Given the description of an element on the screen output the (x, y) to click on. 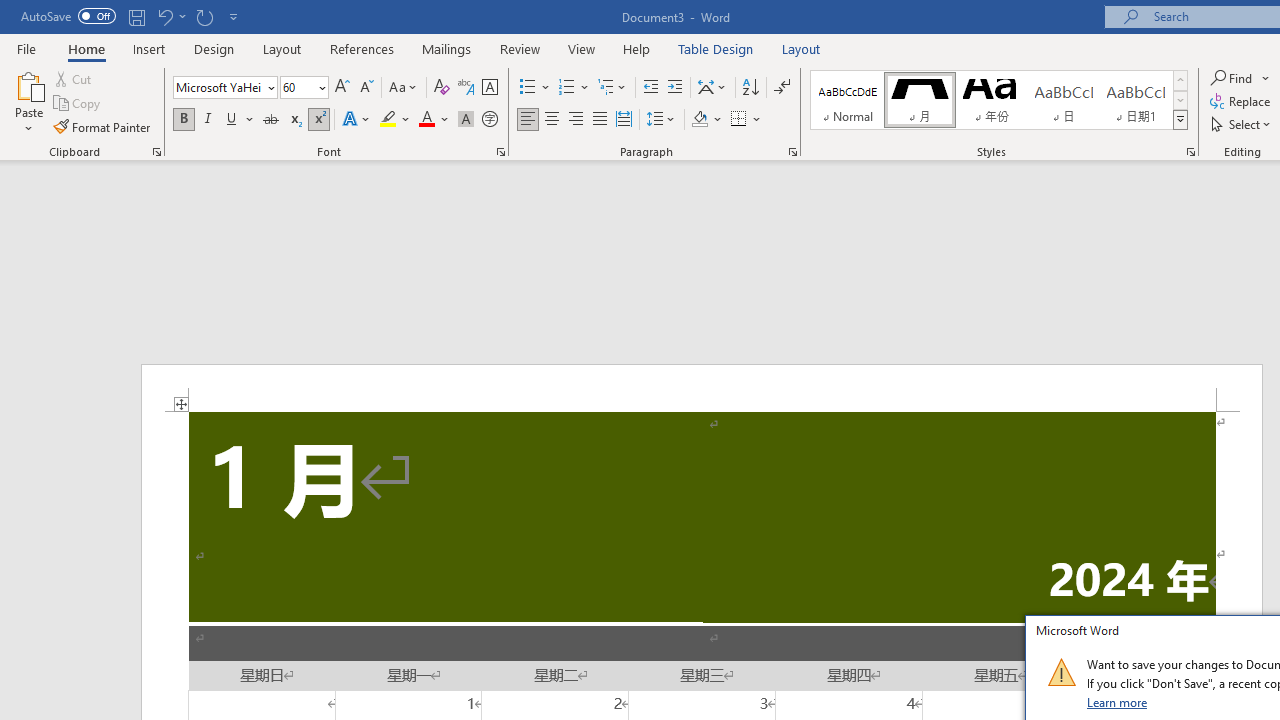
Font... (500, 151)
Copy (78, 103)
Text Highlight Color (395, 119)
Select (1242, 124)
Character Border (489, 87)
Replace... (1242, 101)
